Given the description of an element on the screen output the (x, y) to click on. 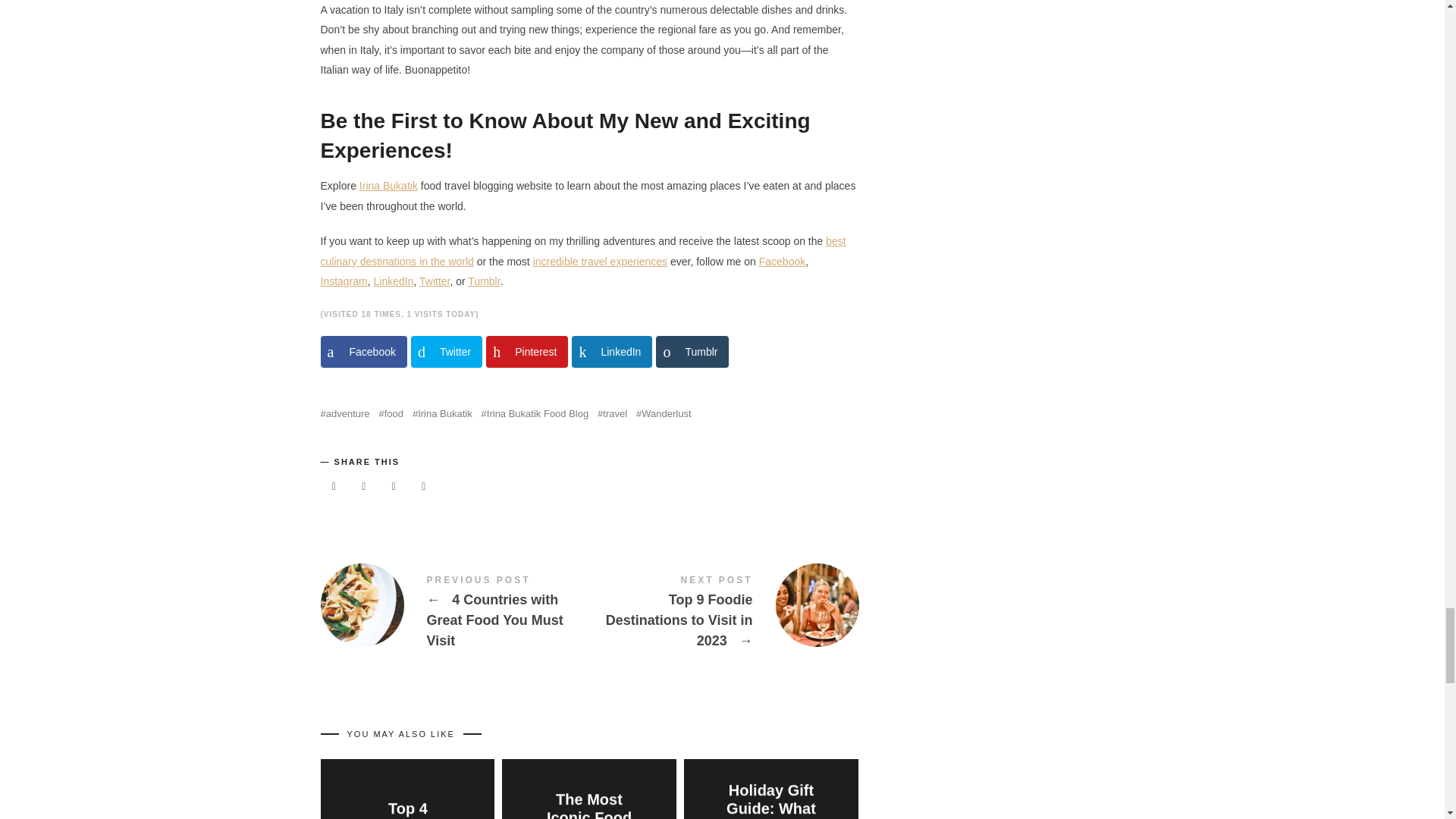
Share on Twitter (445, 351)
Share on Pinterest (526, 351)
Share on Facebook (363, 351)
